Given the description of an element on the screen output the (x, y) to click on. 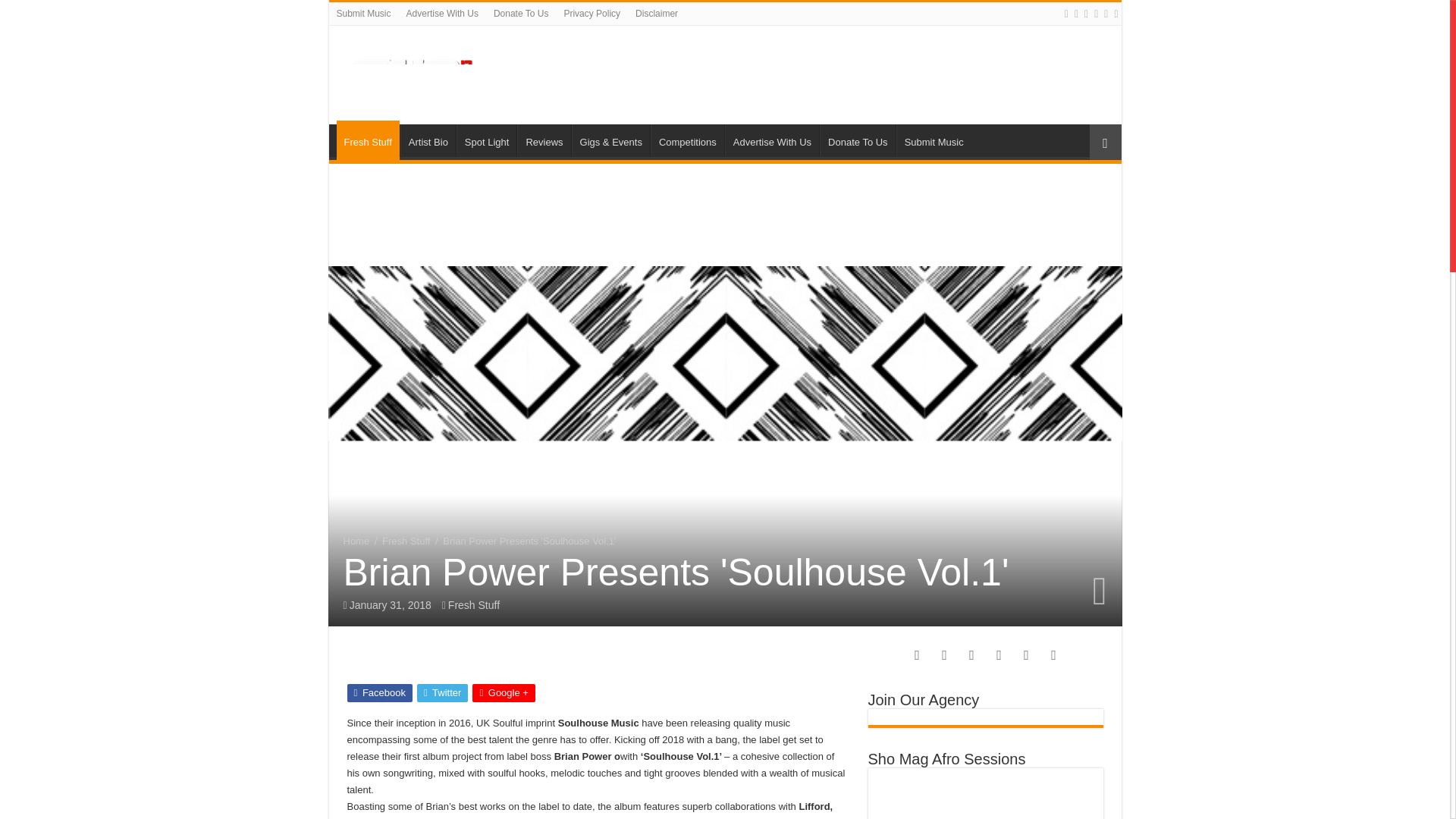
Twitter (441, 692)
Donate To Us (857, 140)
Artist Bio (427, 140)
Submit Music (363, 13)
Advertise With Us (442, 13)
Submit Music (933, 140)
Fresh Stuff (367, 139)
Advertise With Us (771, 140)
Spot Light (486, 140)
Reviews (543, 140)
